Given the description of an element on the screen output the (x, y) to click on. 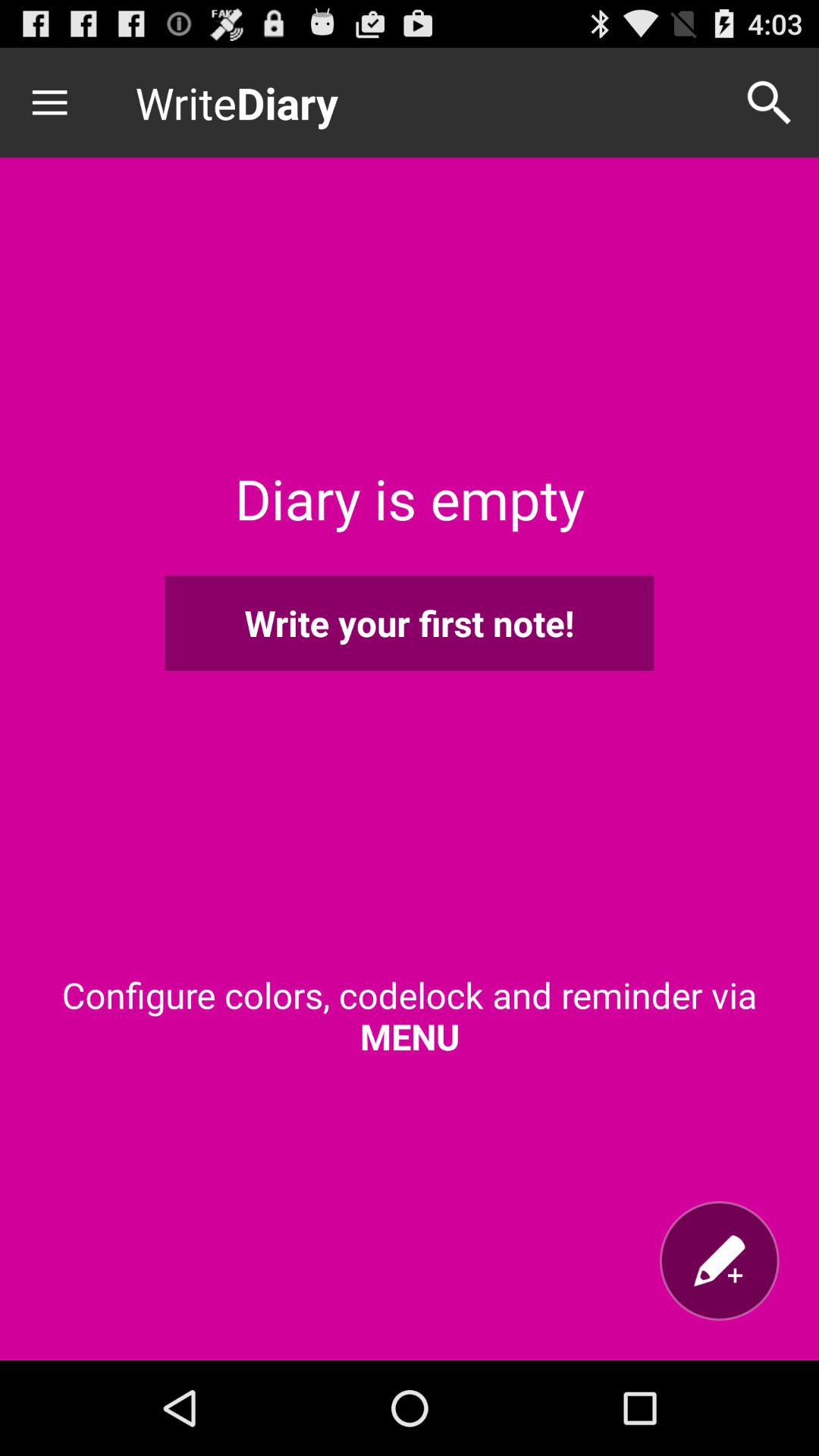
launch icon below the configure colors codelock (719, 1260)
